Given the description of an element on the screen output the (x, y) to click on. 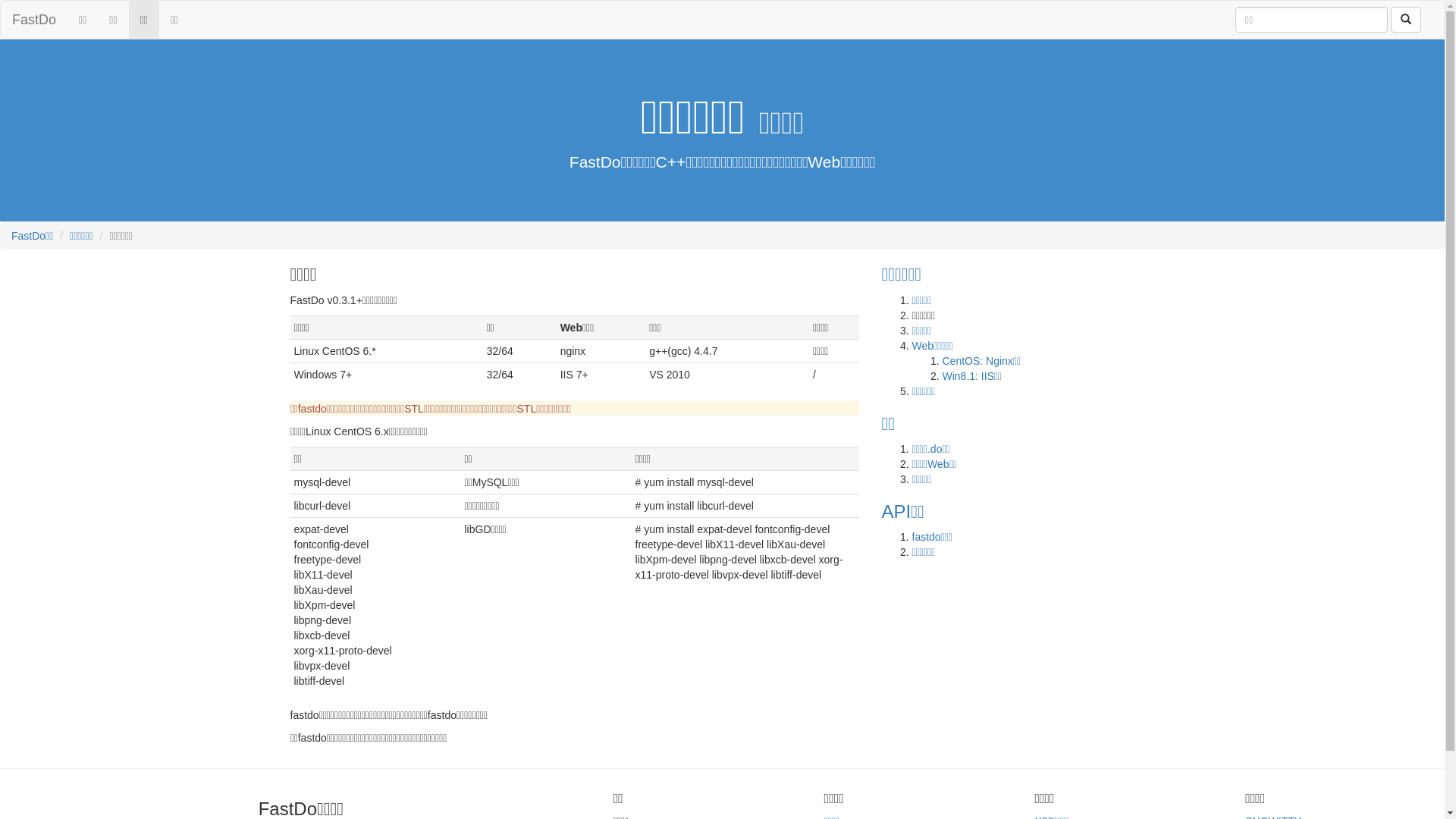
FastDo Element type: text (33, 19)
